Given the description of an element on the screen output the (x, y) to click on. 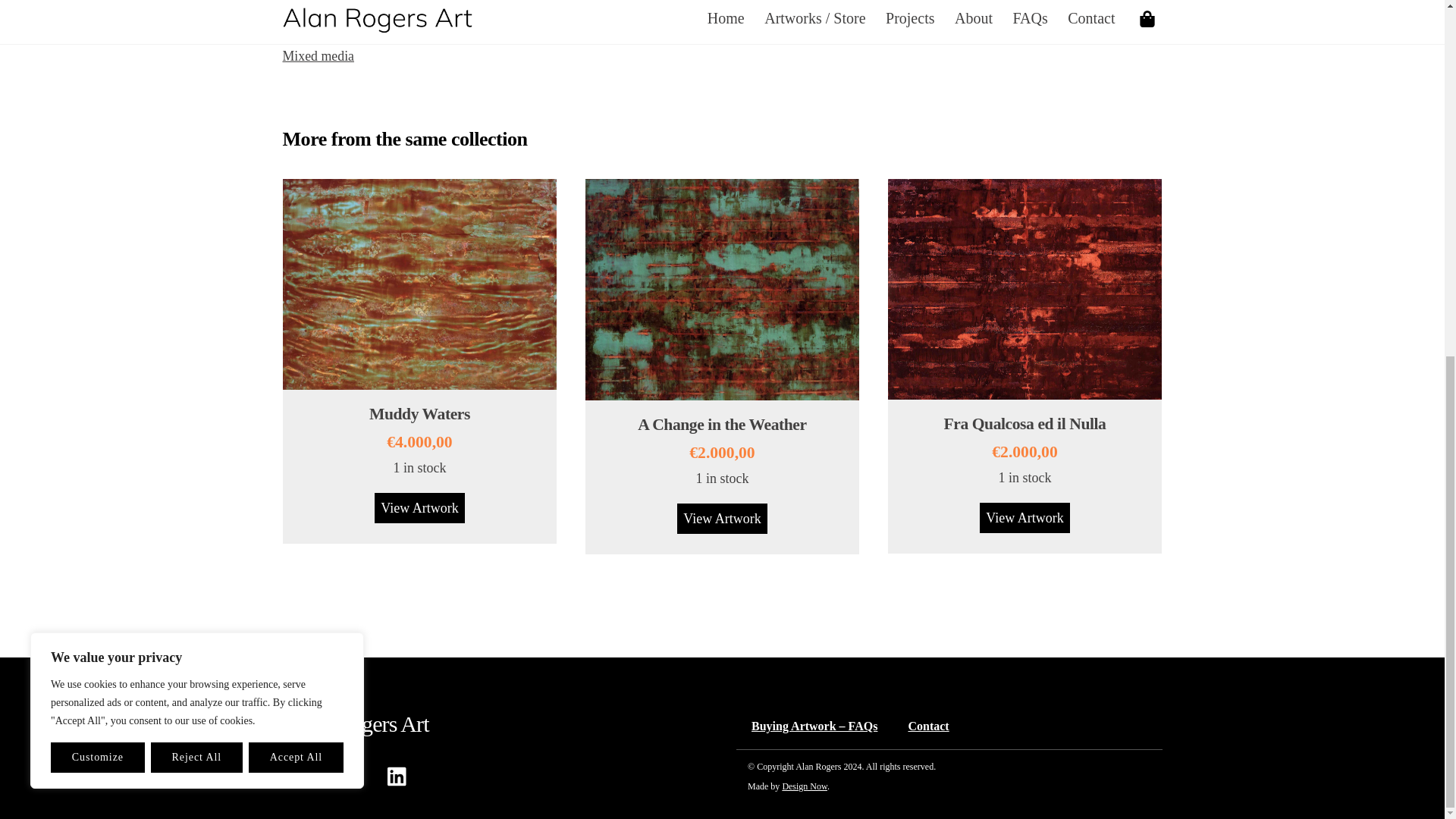
Mixed media (317, 55)
08-MUDDY-WATERS (419, 284)
06-FRA-QUALCOSA-ED-IL-NULLA (1024, 289)
Customize (97, 131)
Reject All (197, 131)
Large Domestic (626, 36)
Accept All (295, 131)
Muddy Waters (419, 413)
07-A-CHANGE-IN-THE-WEATHER (722, 289)
Laguna (555, 36)
